Given the description of an element on the screen output the (x, y) to click on. 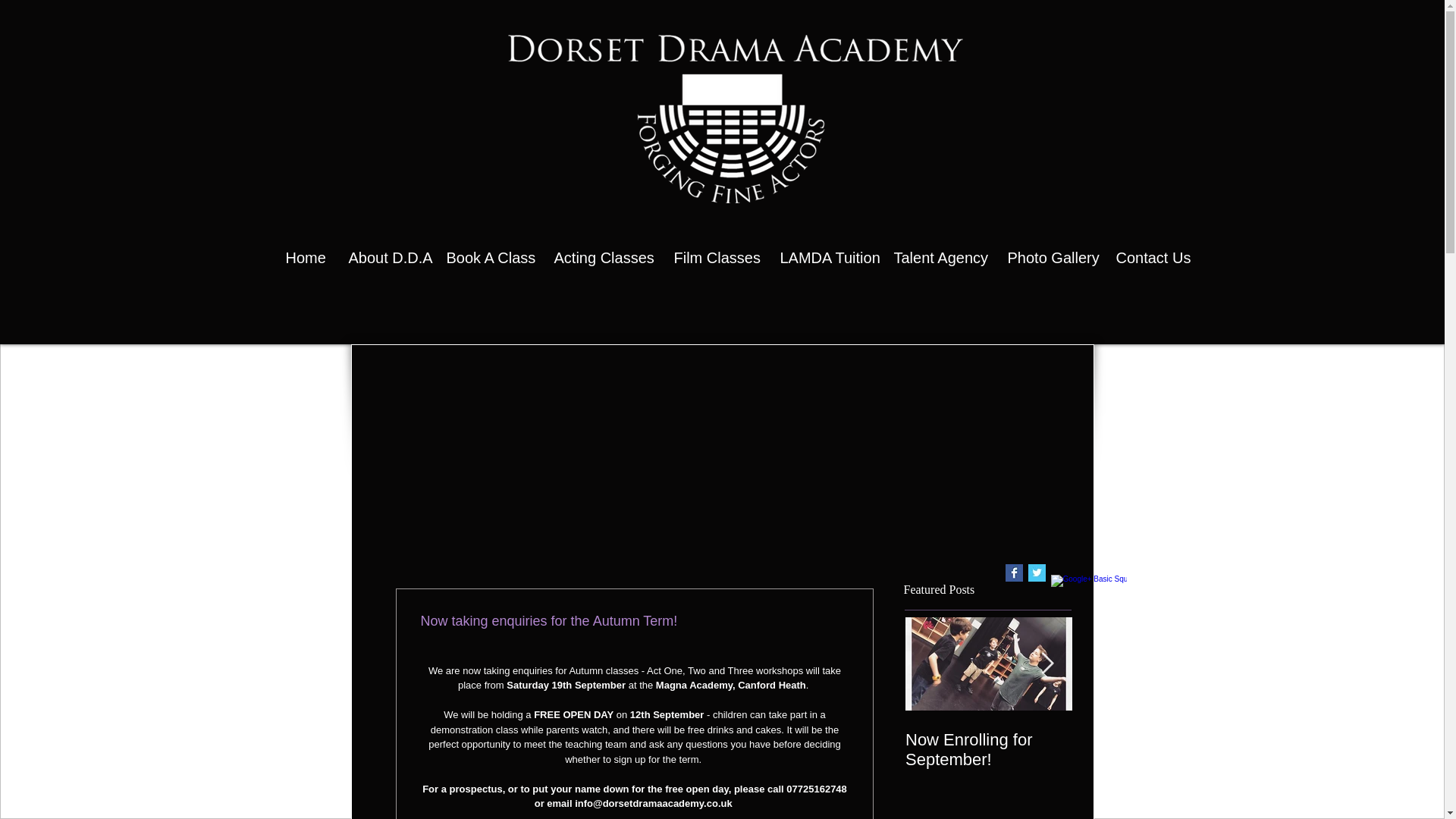
Film Classes (715, 257)
Home (306, 257)
Photo Gallery (1050, 257)
Contact Us (1149, 257)
Acting Classes (602, 257)
Talent Agency (938, 257)
Book A Class (489, 257)
LAMDA Tuition (825, 257)
About D.D.A (384, 257)
